Given the description of an element on the screen output the (x, y) to click on. 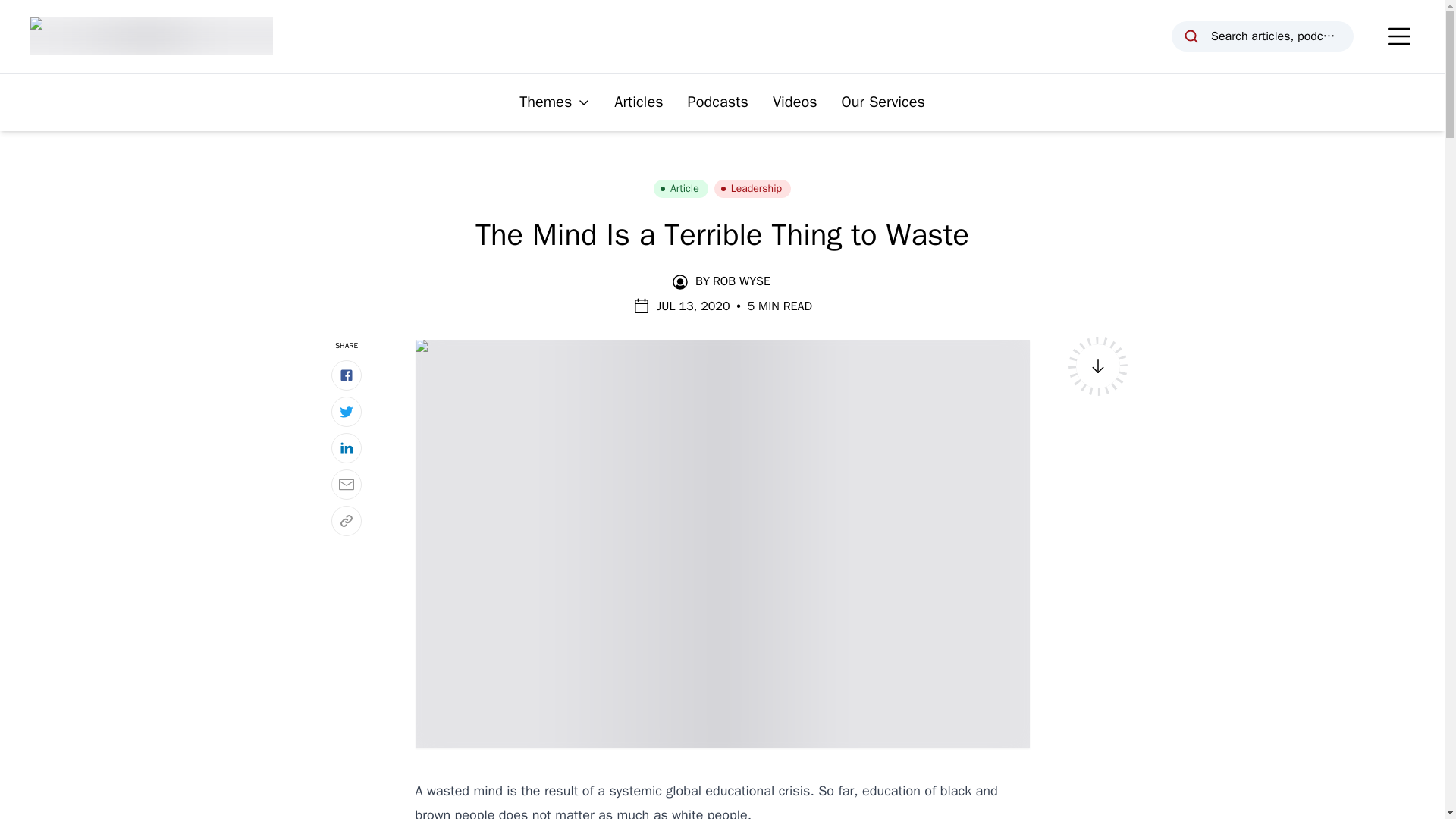
Podcasts (717, 102)
Search articles, podcasts, videos, resources, and authors. (1263, 36)
Article (680, 188)
ROB WYSE (741, 280)
Videos (794, 102)
Open Sidebar Menu (1398, 36)
Articles (638, 102)
Our Services (882, 102)
Themes (554, 102)
Leadership (752, 188)
